Given the description of an element on the screen output the (x, y) to click on. 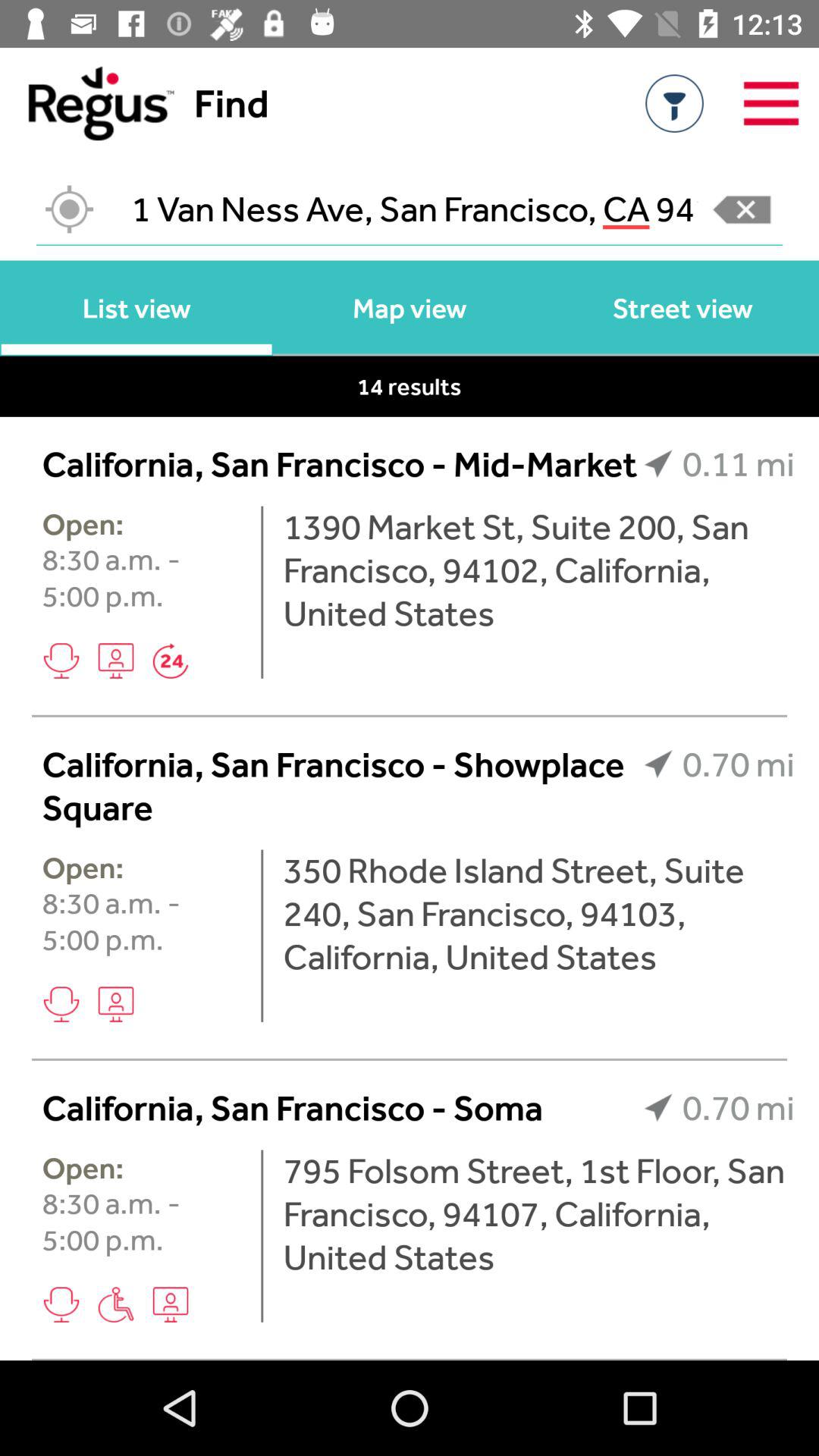
swipe until 795 folsom street item (538, 1213)
